Given the description of an element on the screen output the (x, y) to click on. 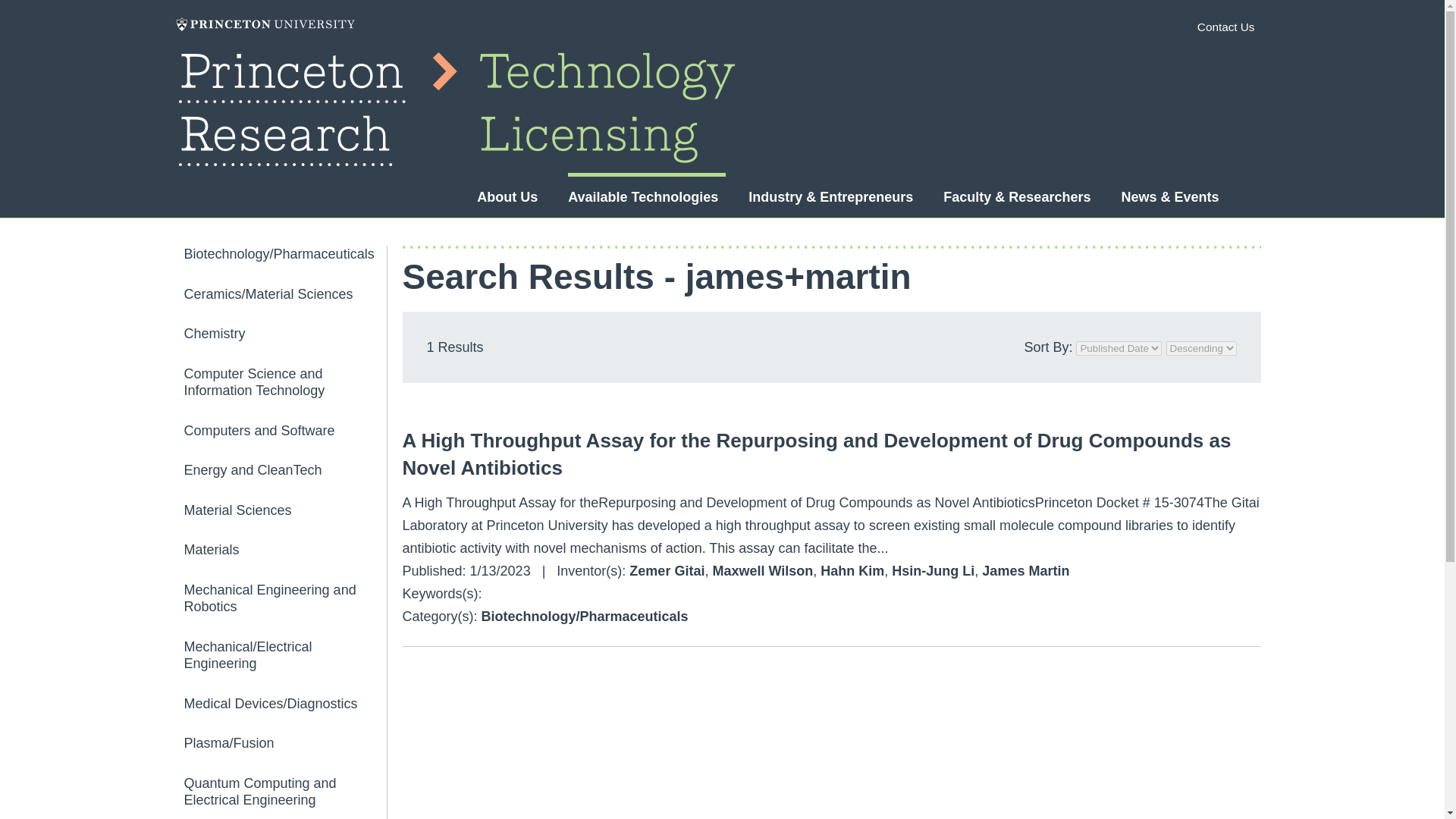
James Martin (1024, 570)
Materials (284, 549)
Mechanical Engineering and Robotics (284, 597)
Energy and CleanTech (284, 470)
Princeton University (264, 24)
Hahn Kim (852, 570)
Material Sciences (284, 510)
Hsin-Jung Li (932, 570)
Chemistry (284, 334)
Quantum Computing and Electrical Engineering (284, 791)
Contact Us (1225, 26)
Computer Science and Information Technology (284, 382)
Zemer Gitai (666, 570)
Computers and Software (284, 429)
Available Technologies (642, 196)
